Given the description of an element on the screen output the (x, y) to click on. 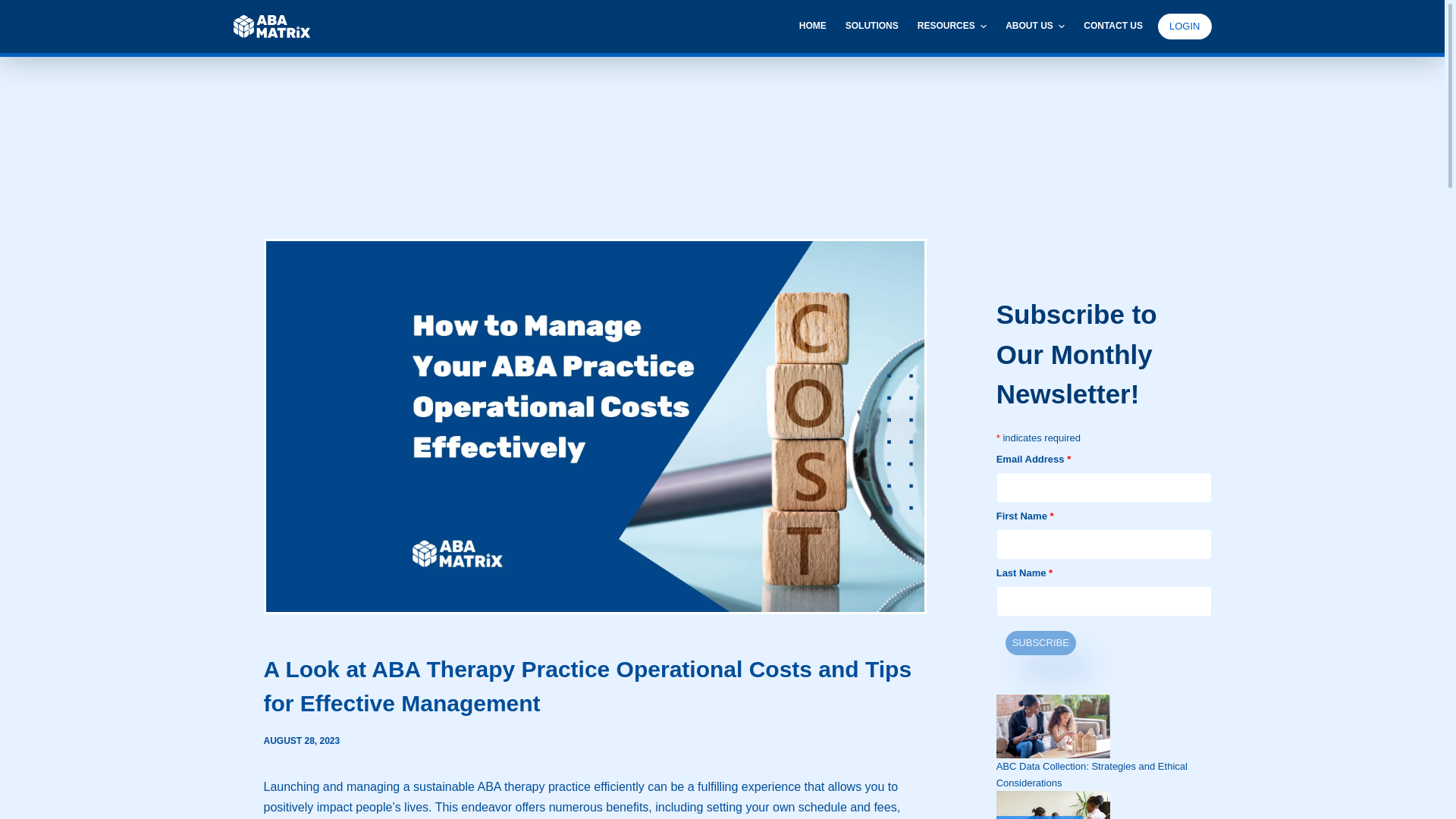
Subscribe (1040, 642)
CONTACT US (1108, 26)
Skip to content (15, 7)
LOGIN (1184, 26)
RESOURCES (951, 26)
ABC Data Collection: Strategies and Ethical Considerations (1091, 773)
SOLUTIONS (871, 26)
Subscribe (1040, 642)
ABOUT US (1034, 26)
